Given the description of an element on the screen output the (x, y) to click on. 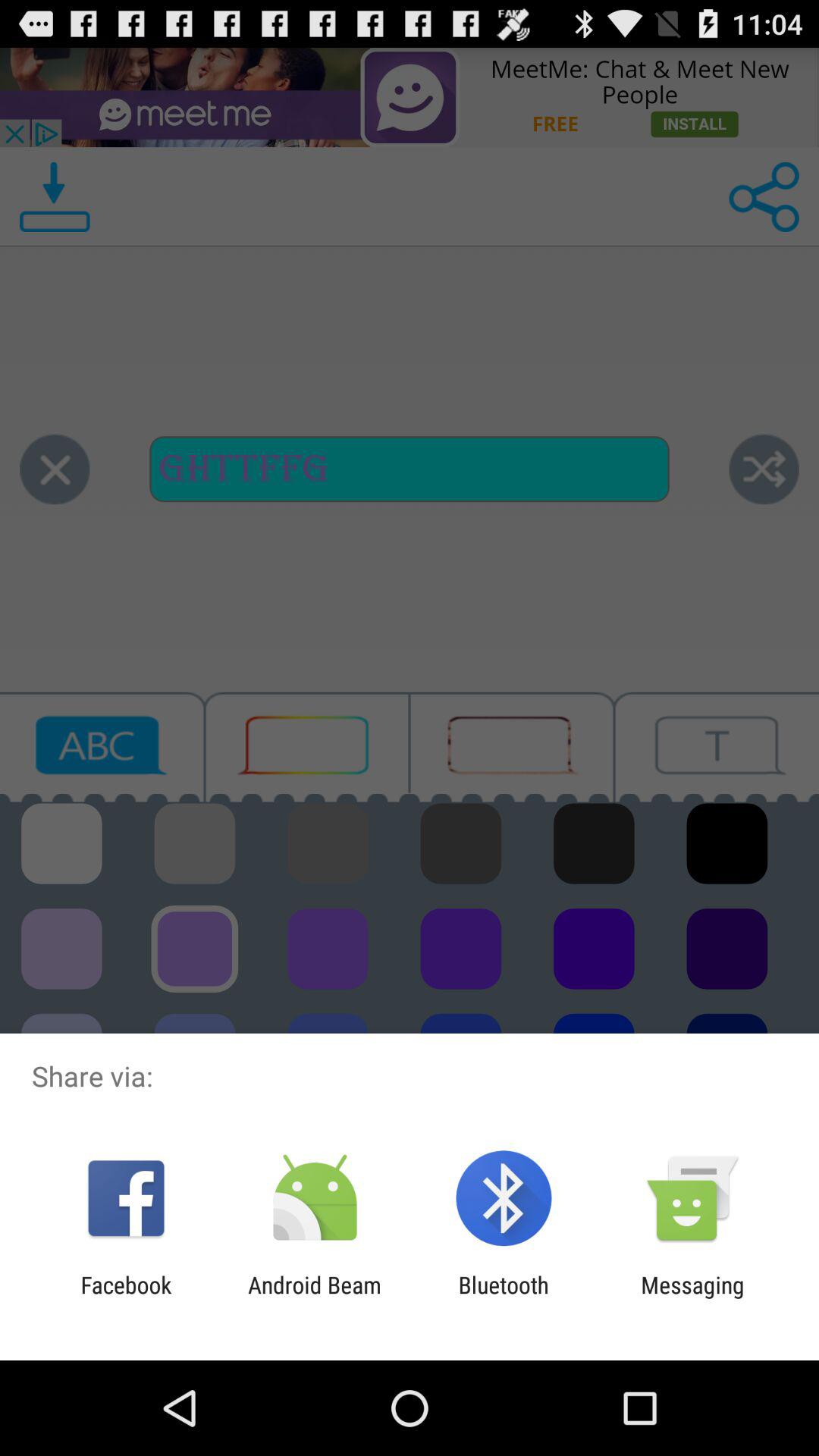
select app to the right of the android beam item (503, 1298)
